Given the description of an element on the screen output the (x, y) to click on. 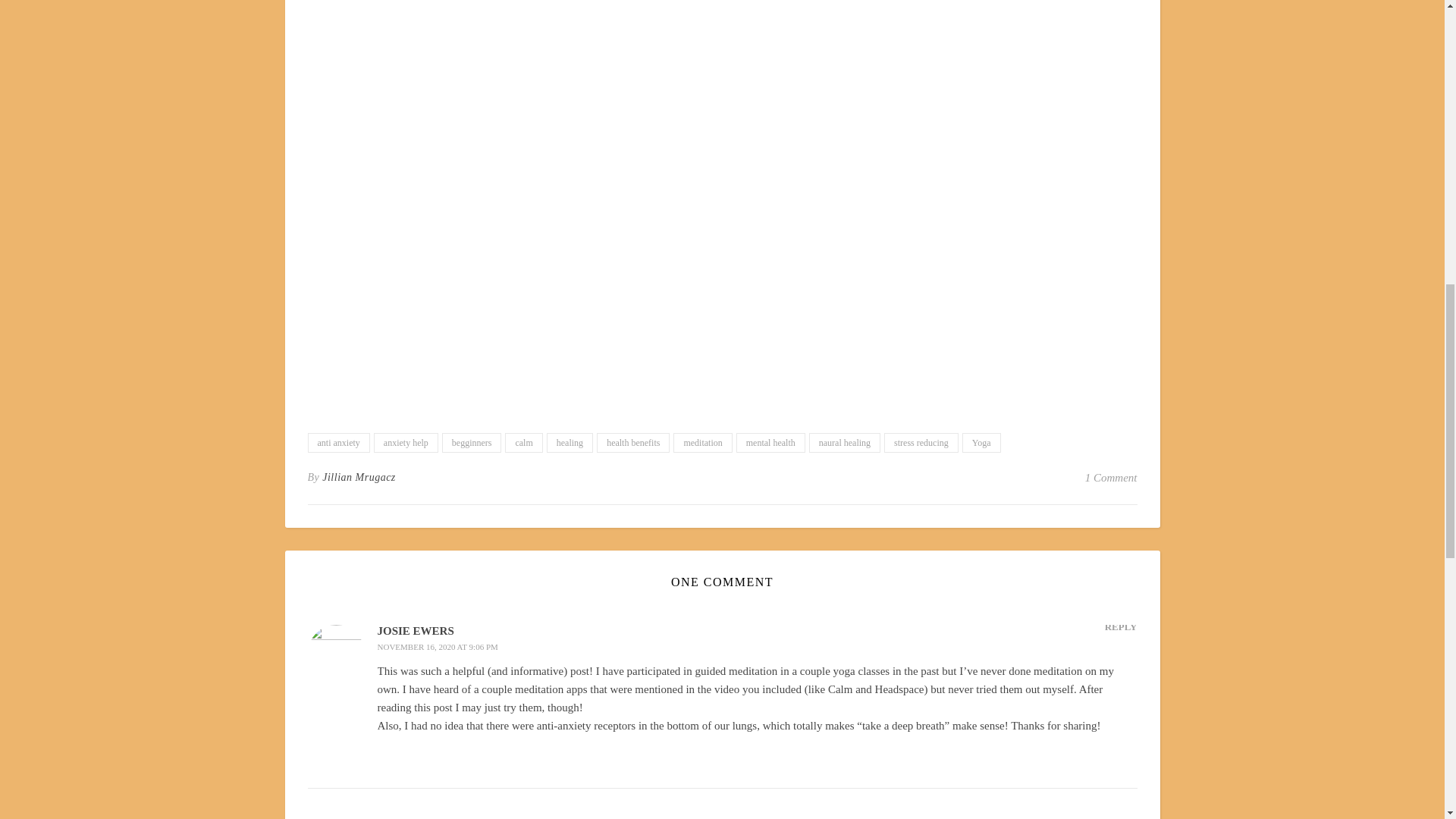
begginners (472, 442)
anxiety help (406, 442)
health benefits (632, 442)
calm (523, 442)
Yoga (981, 442)
Posts by Jillian Mrugacz (358, 477)
Jillian Mrugacz (358, 477)
mental health (770, 442)
meditation (702, 442)
healing (569, 442)
